Given the description of an element on the screen output the (x, y) to click on. 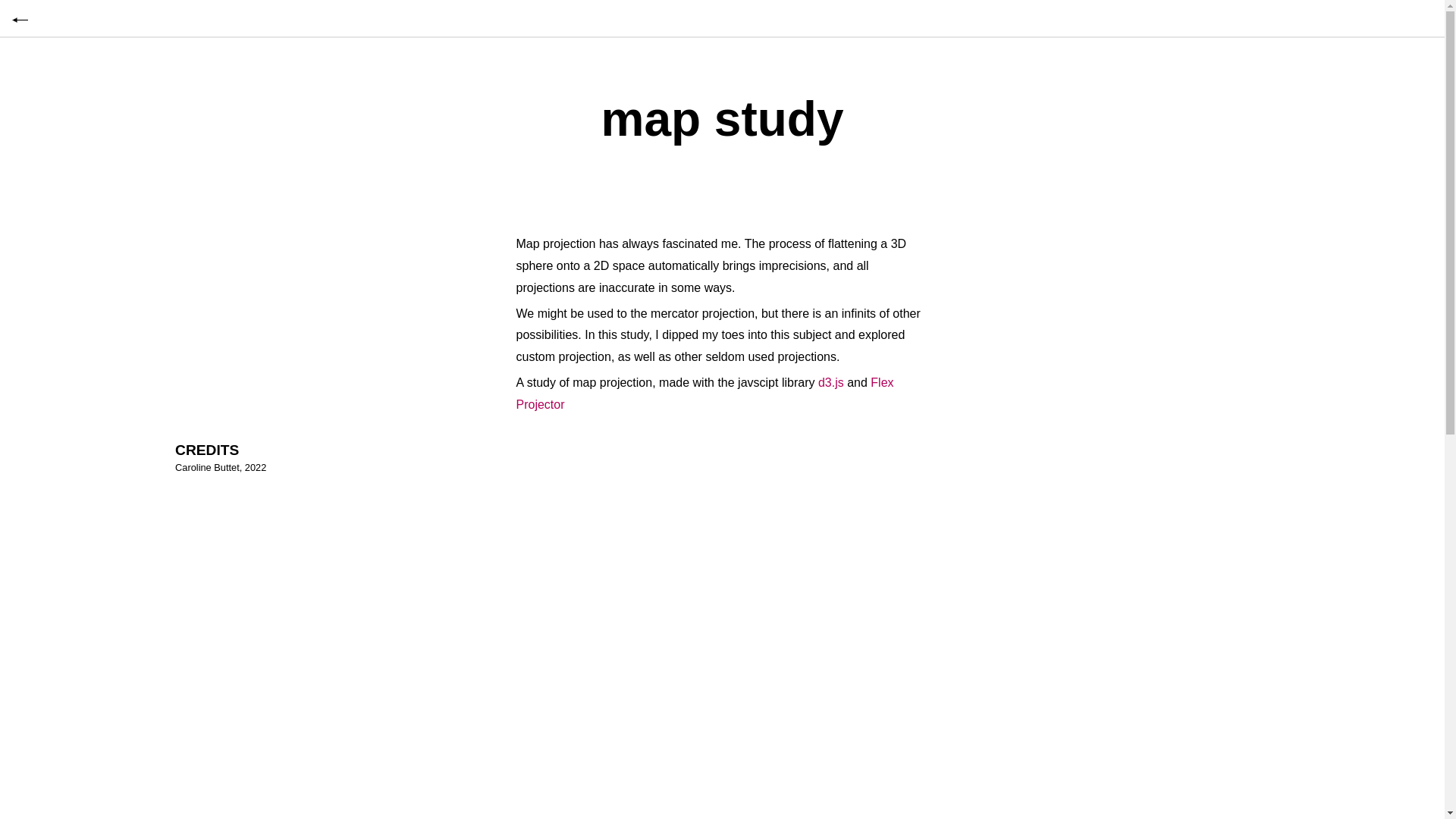
d3.js Element type: text (831, 382)
Flex Projector Element type: text (704, 393)
